Given the description of an element on the screen output the (x, y) to click on. 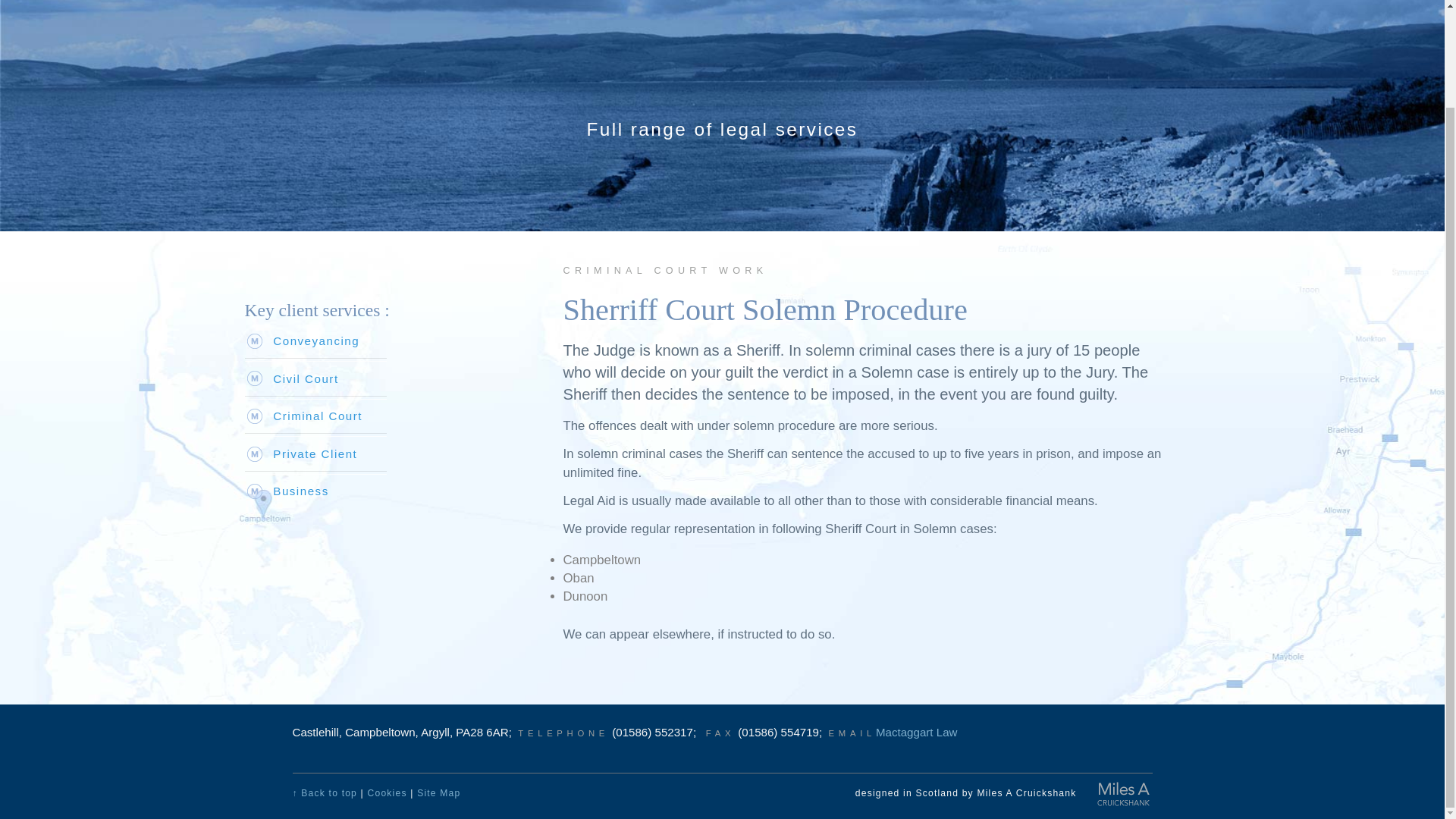
Send email (917, 731)
Private Client (314, 453)
Conveyancing (316, 340)
Criminal Court (317, 415)
Civil Court (305, 378)
